Given the description of an element on the screen output the (x, y) to click on. 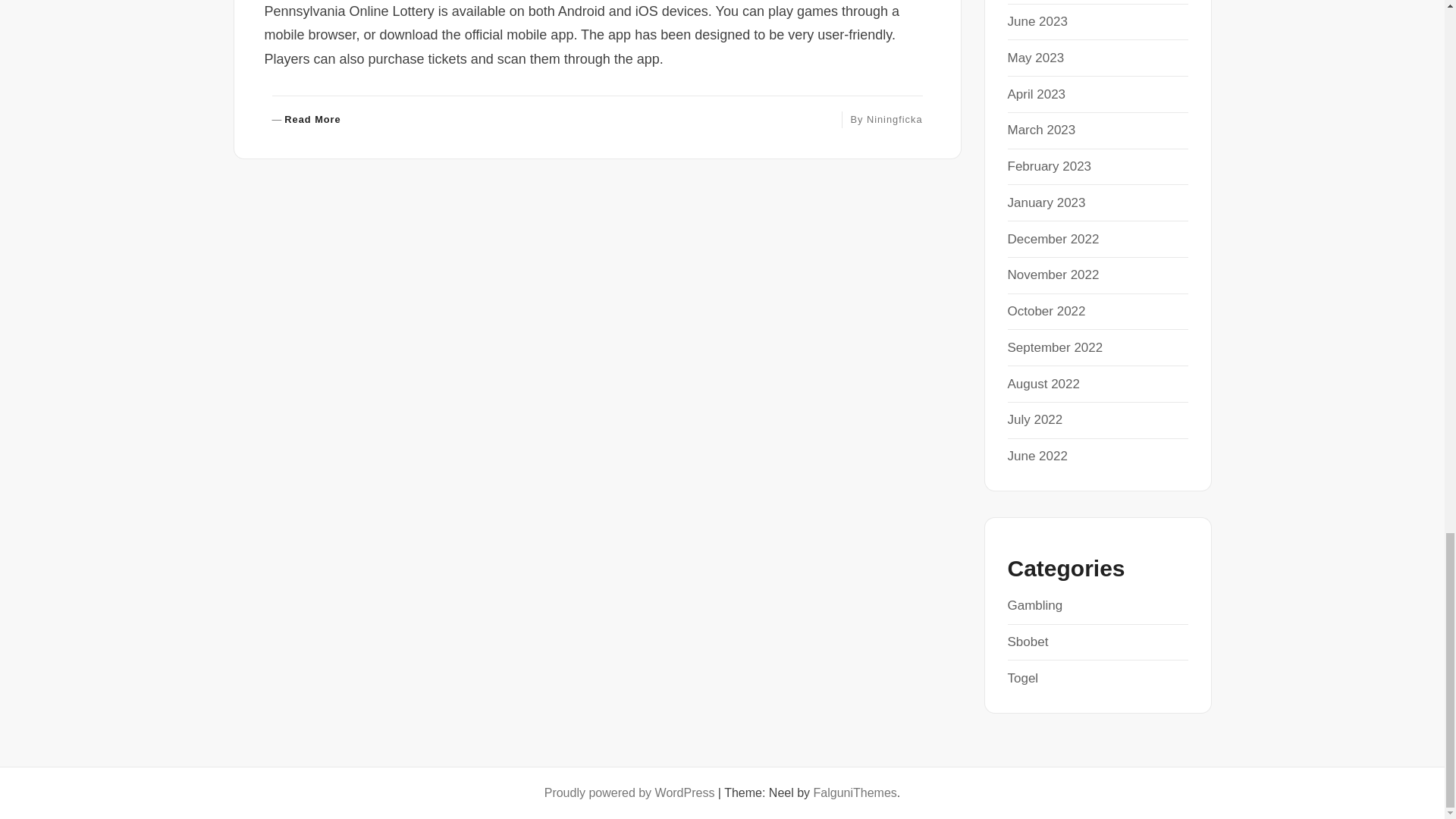
Niningficka (305, 119)
May 2023 (894, 119)
June 2023 (1035, 57)
April 2023 (1037, 21)
